Given the description of an element on the screen output the (x, y) to click on. 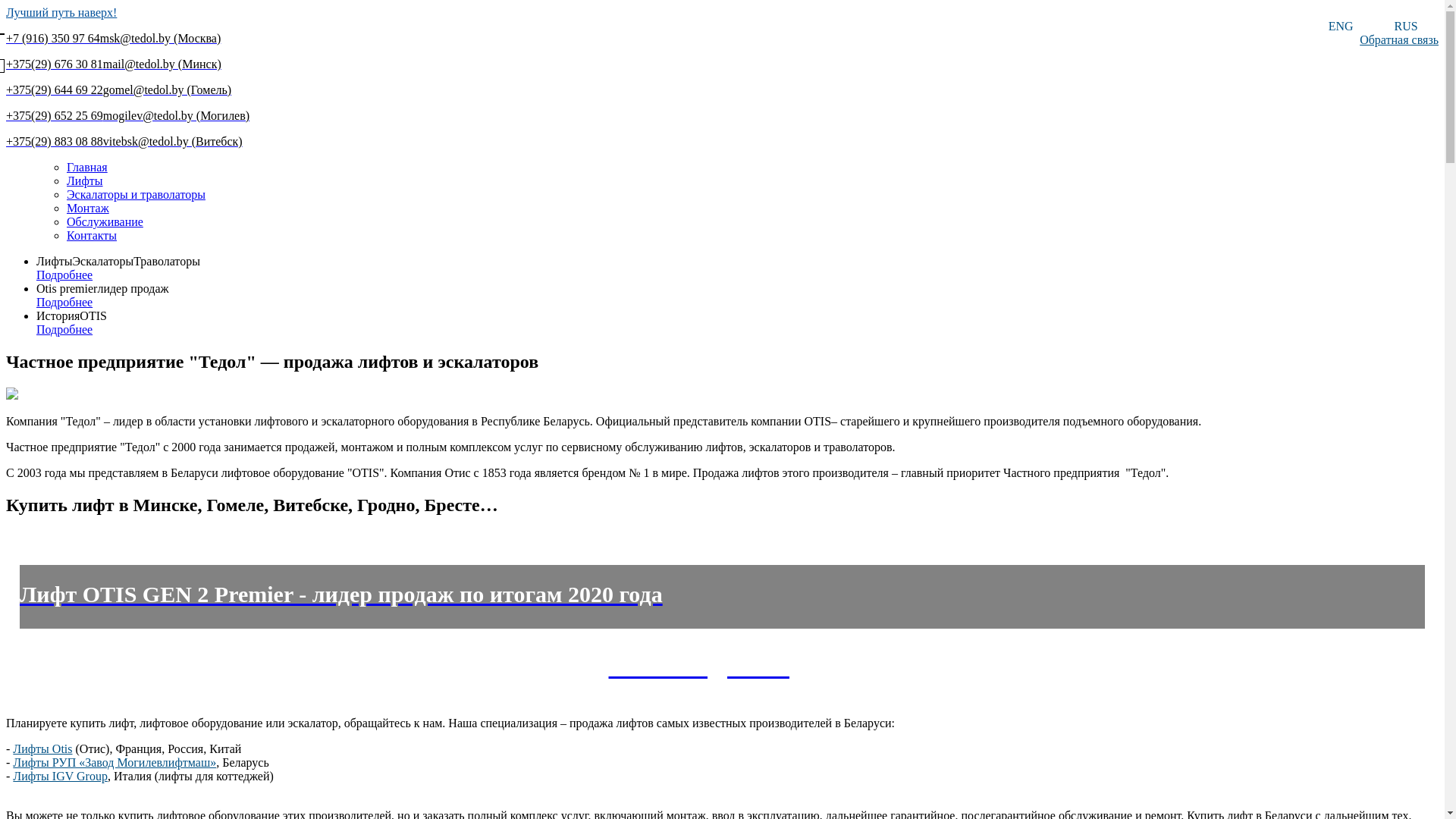
RUS Element type: text (1405, 26)
ENG Element type: text (1340, 26)
